Given the description of an element on the screen output the (x, y) to click on. 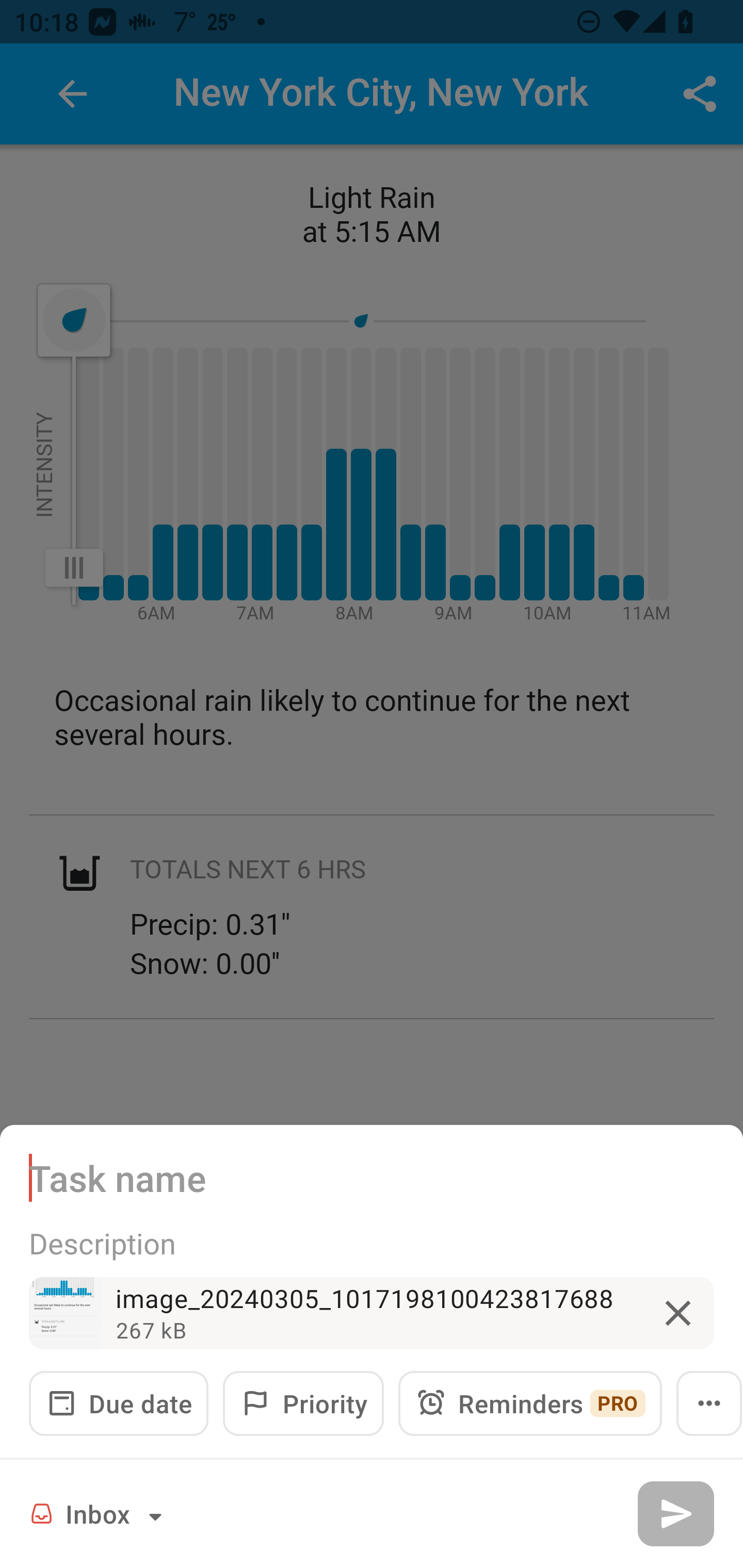
Task name (371, 1177)
Description (371, 1242)
Remove attachment (677, 1313)
Due date Date (118, 1403)
Priority (303, 1403)
Reminders PRO Reminders (530, 1403)
Open menu (709, 1403)
Inbox Project (99, 1513)
Add (675, 1513)
